Given the description of an element on the screen output the (x, y) to click on. 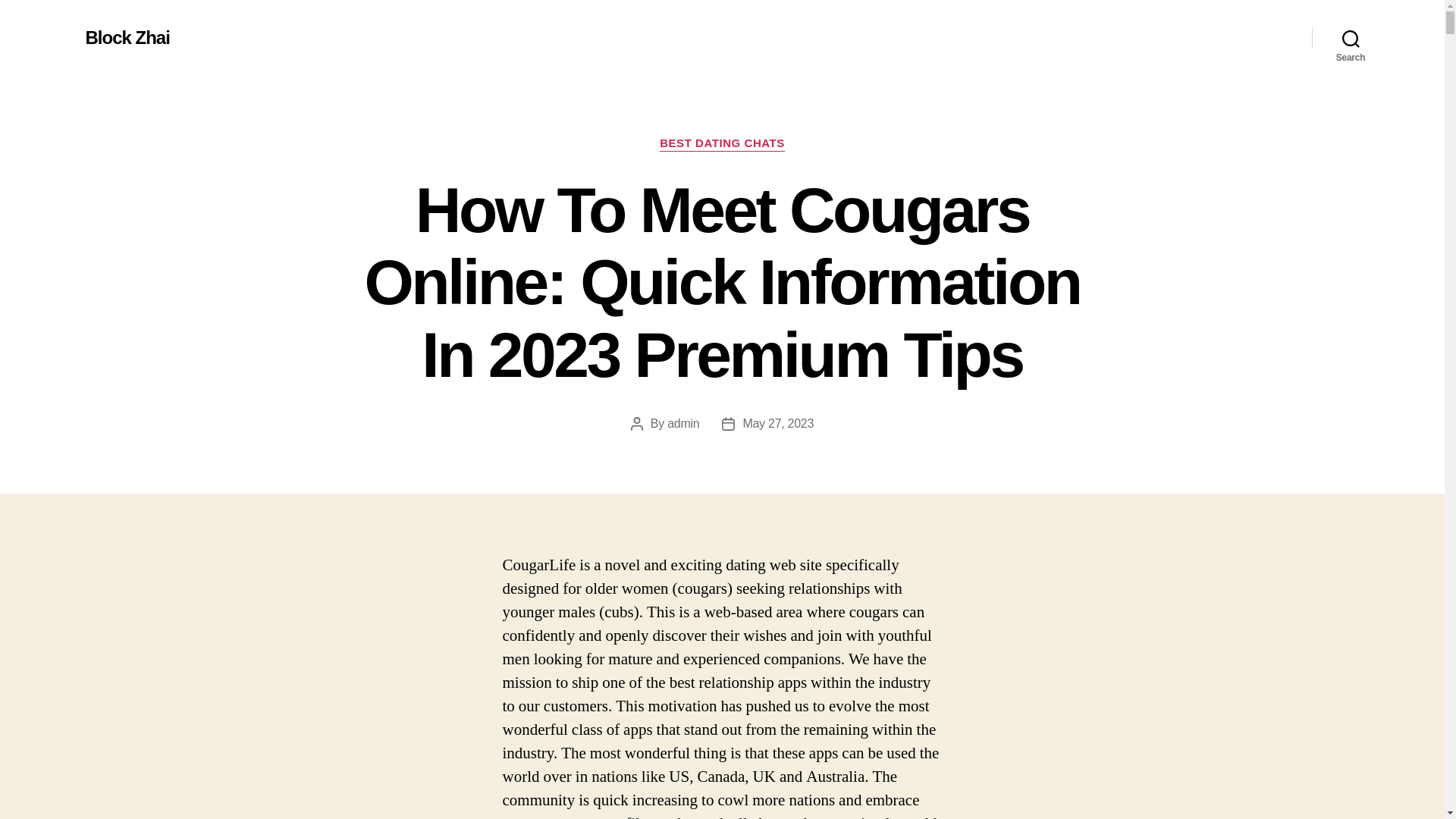
BEST DATING CHATS (721, 143)
Search (1350, 37)
admin (682, 422)
May 27, 2023 (777, 422)
Block Zhai (126, 37)
